Given the description of an element on the screen output the (x, y) to click on. 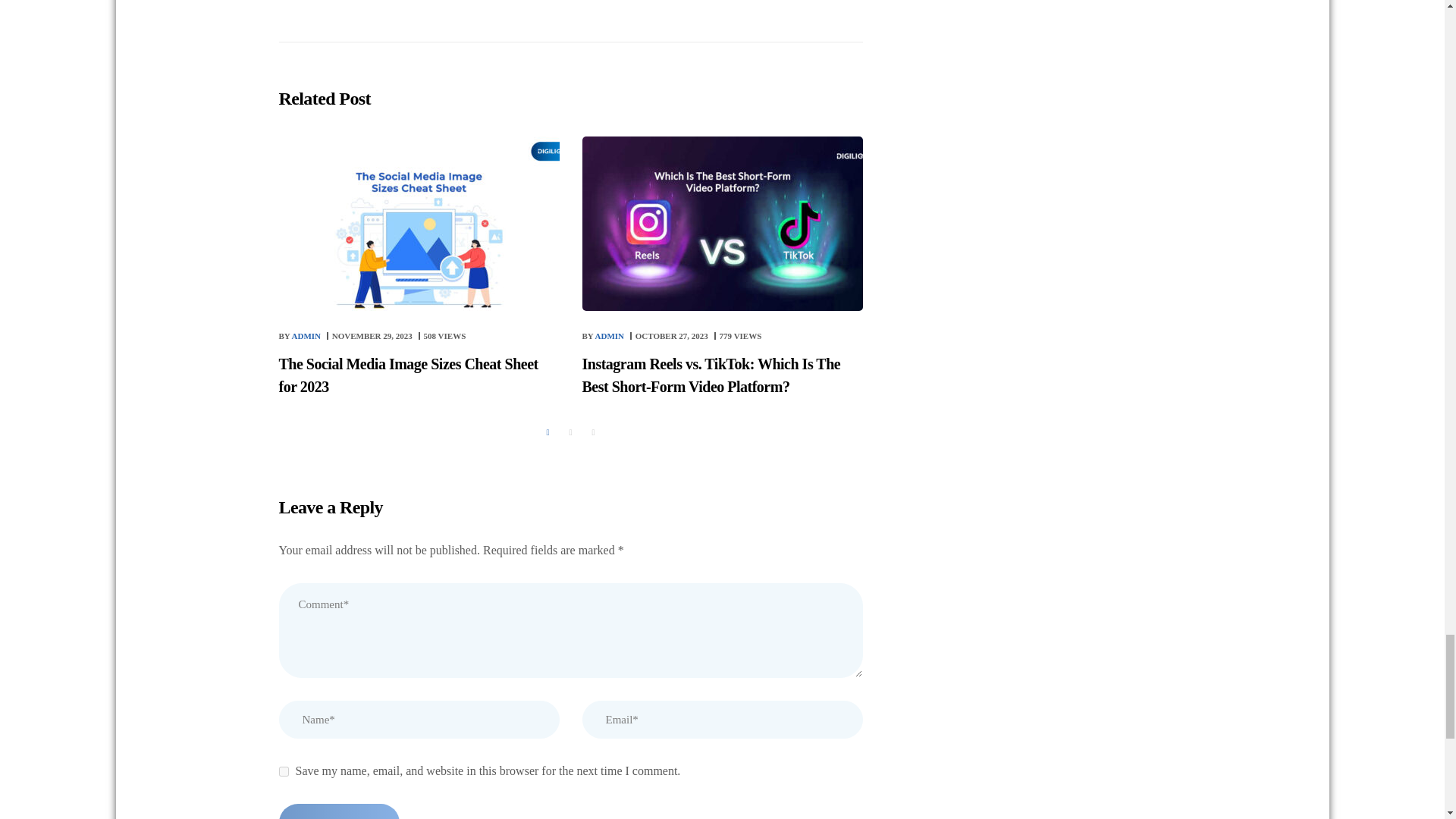
yes (283, 771)
Post Comment (338, 811)
Browse Author Articles (301, 335)
The Social Media Image Sizes Cheat Sheet for 2023 (371, 335)
The Social Media Image Sizes Cheat Sheet for 2023 (408, 374)
Browse Author Articles (604, 335)
The Social Media Image Sizes Cheat Sheet for 2023 (419, 223)
